Given the description of an element on the screen output the (x, y) to click on. 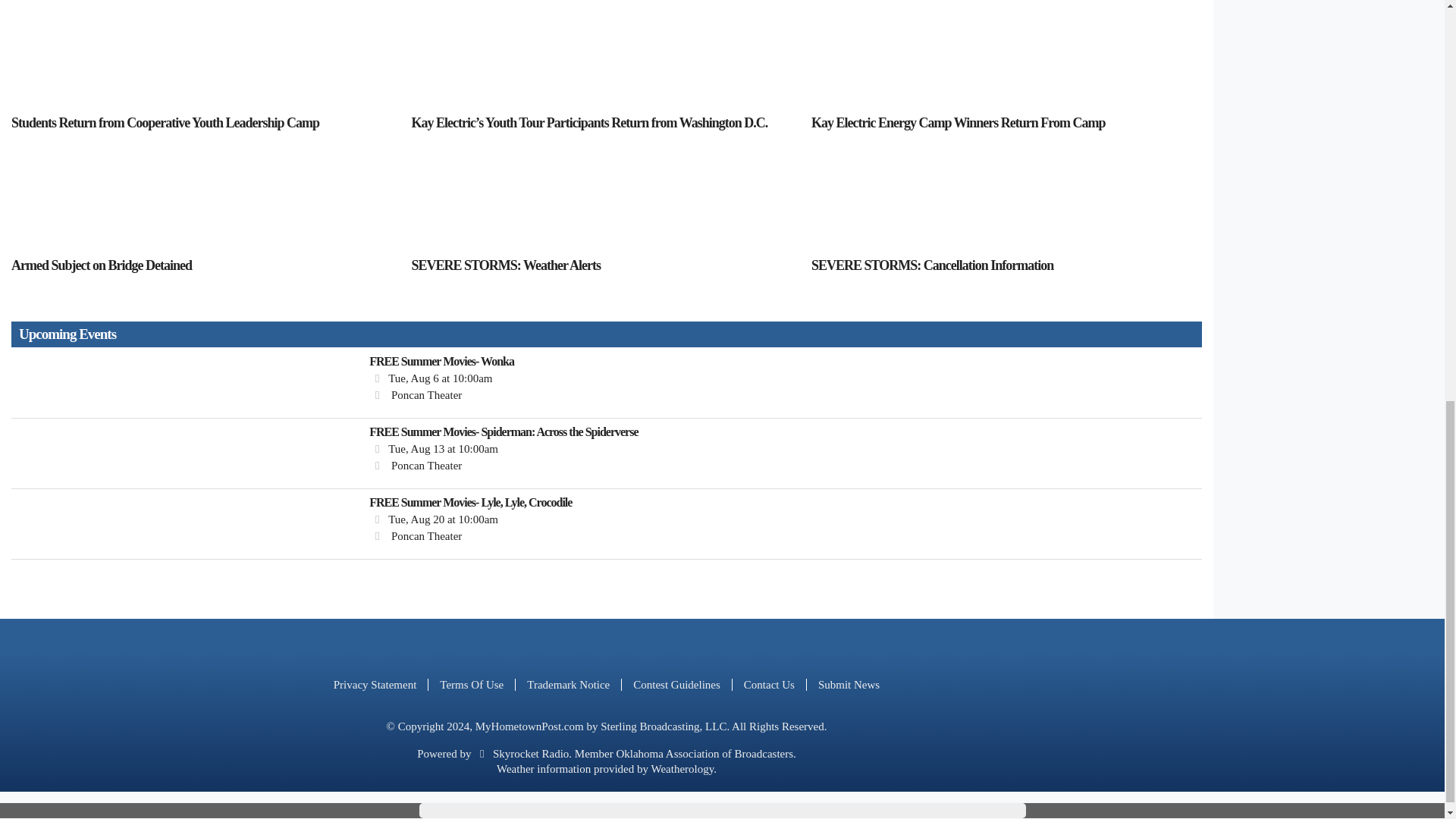
Students Return from Cooperative Youth Leadership Camp (204, 122)
Students Return from Cooperative Youth Leadership Camp (204, 58)
